Given the description of an element on the screen output the (x, y) to click on. 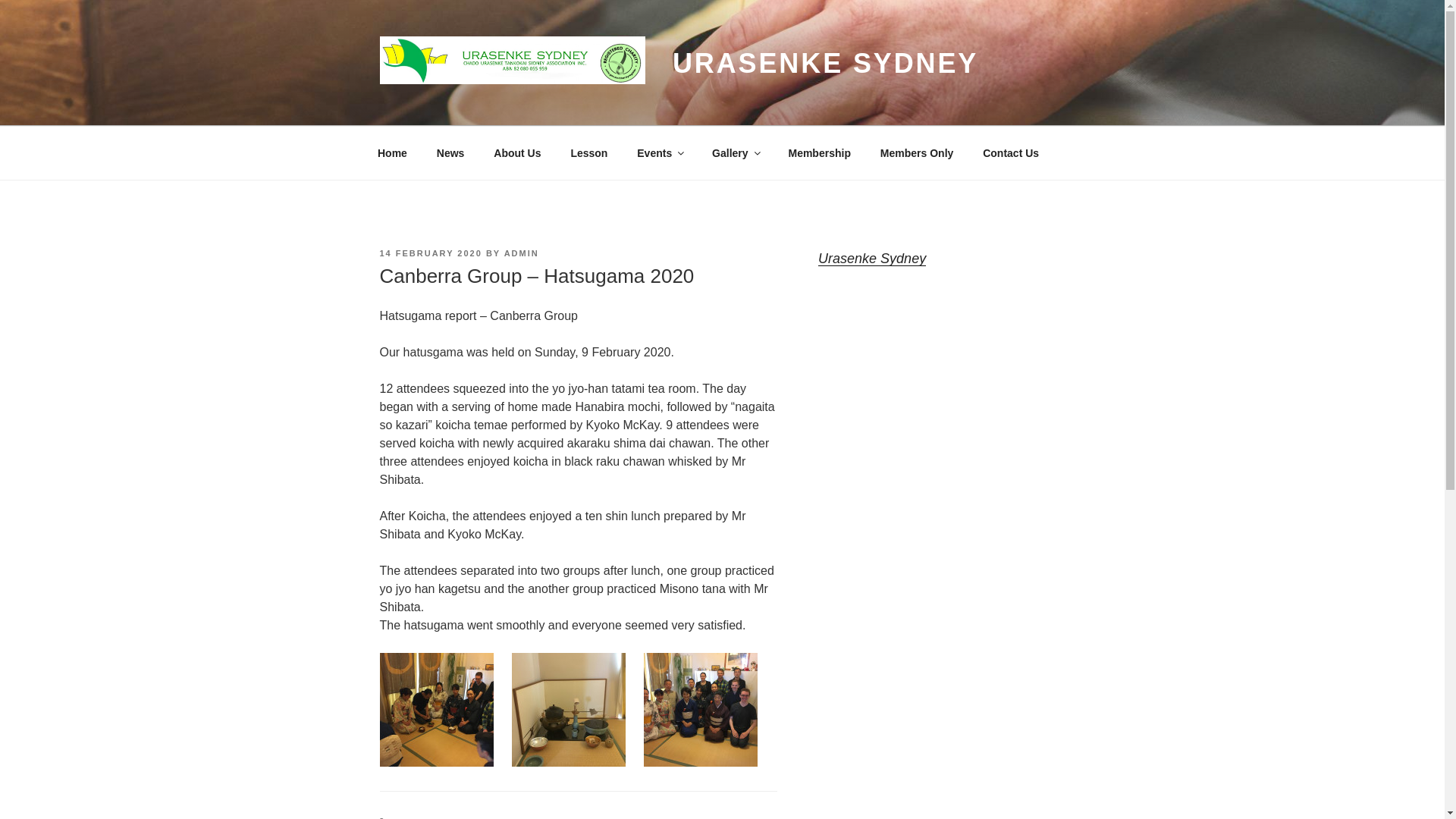
URASENKE SYDNEY (825, 62)
News (450, 153)
Lesson (589, 153)
Home (392, 153)
Gallery (734, 153)
Events (659, 153)
About Us (517, 153)
Members Only (916, 153)
Membership (818, 153)
